Given the description of an element on the screen output the (x, y) to click on. 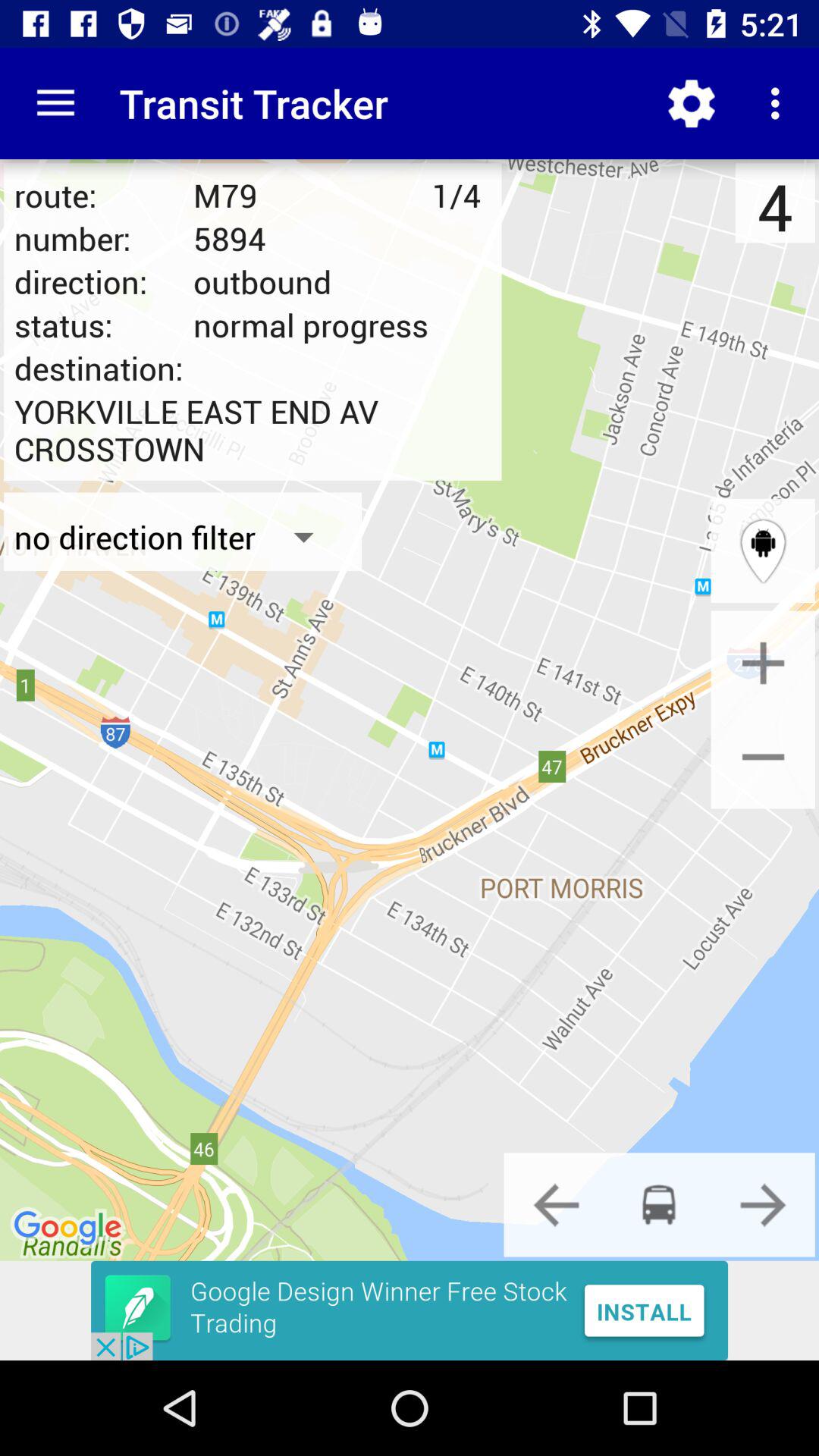
switch mode of transportation (555, 1204)
